Given the description of an element on the screen output the (x, y) to click on. 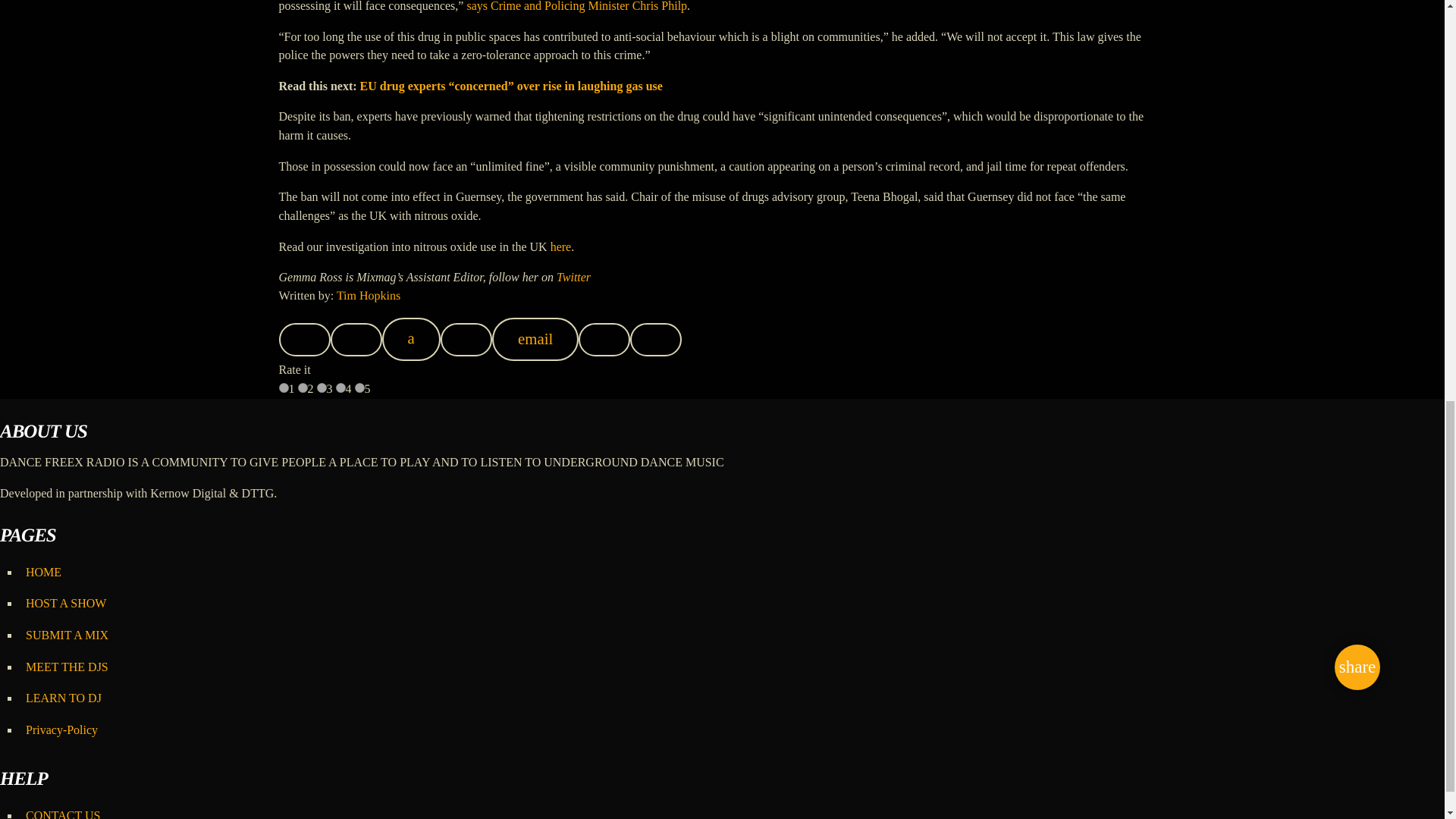
5 (360, 388)
1 (283, 388)
3 (321, 388)
2 (302, 388)
4 (339, 388)
